Given the description of an element on the screen output the (x, y) to click on. 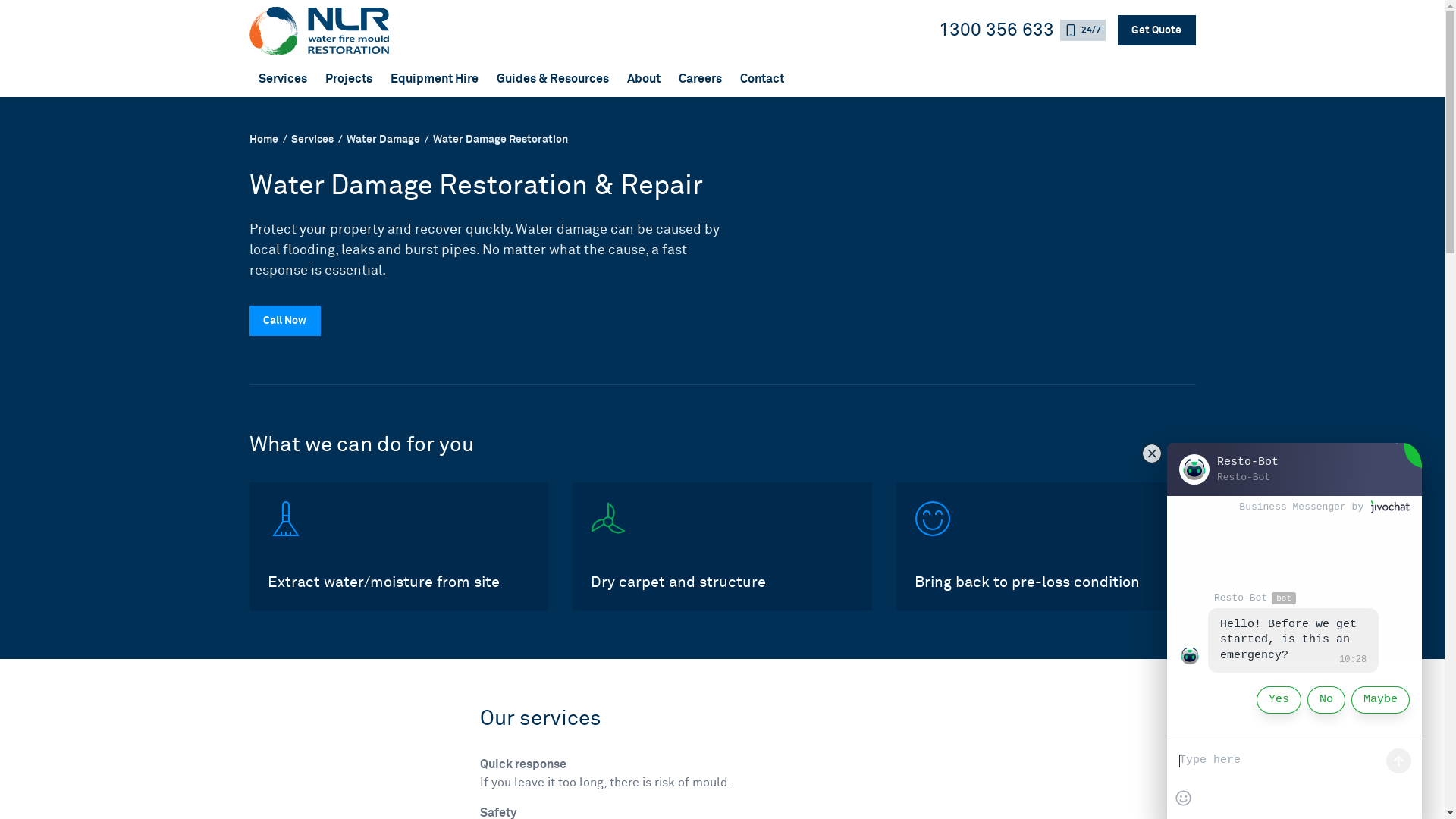
1300 356 633
24/7 Element type: text (1021, 29)
Call Now Element type: text (284, 320)
Business Messenger by Element type: text (1324, 507)
Contact Element type: text (762, 78)
Careers Element type: text (699, 78)
Resto-Bot Element type: hover (1190, 655)
Guides & Resources Element type: text (551, 78)
About Element type: text (642, 78)
Water Damage Restoration Element type: text (499, 139)
Services Element type: text (281, 78)
Water Damage Element type: text (382, 139)
NLR Logo - Link to homepage Element type: hover (593, 30)
Home Element type: text (263, 139)
Get Quote Element type: text (1156, 30)
Projects Element type: text (347, 78)
Equipment Hire Element type: text (433, 78)
Services Element type: text (312, 139)
